Given the description of an element on the screen output the (x, y) to click on. 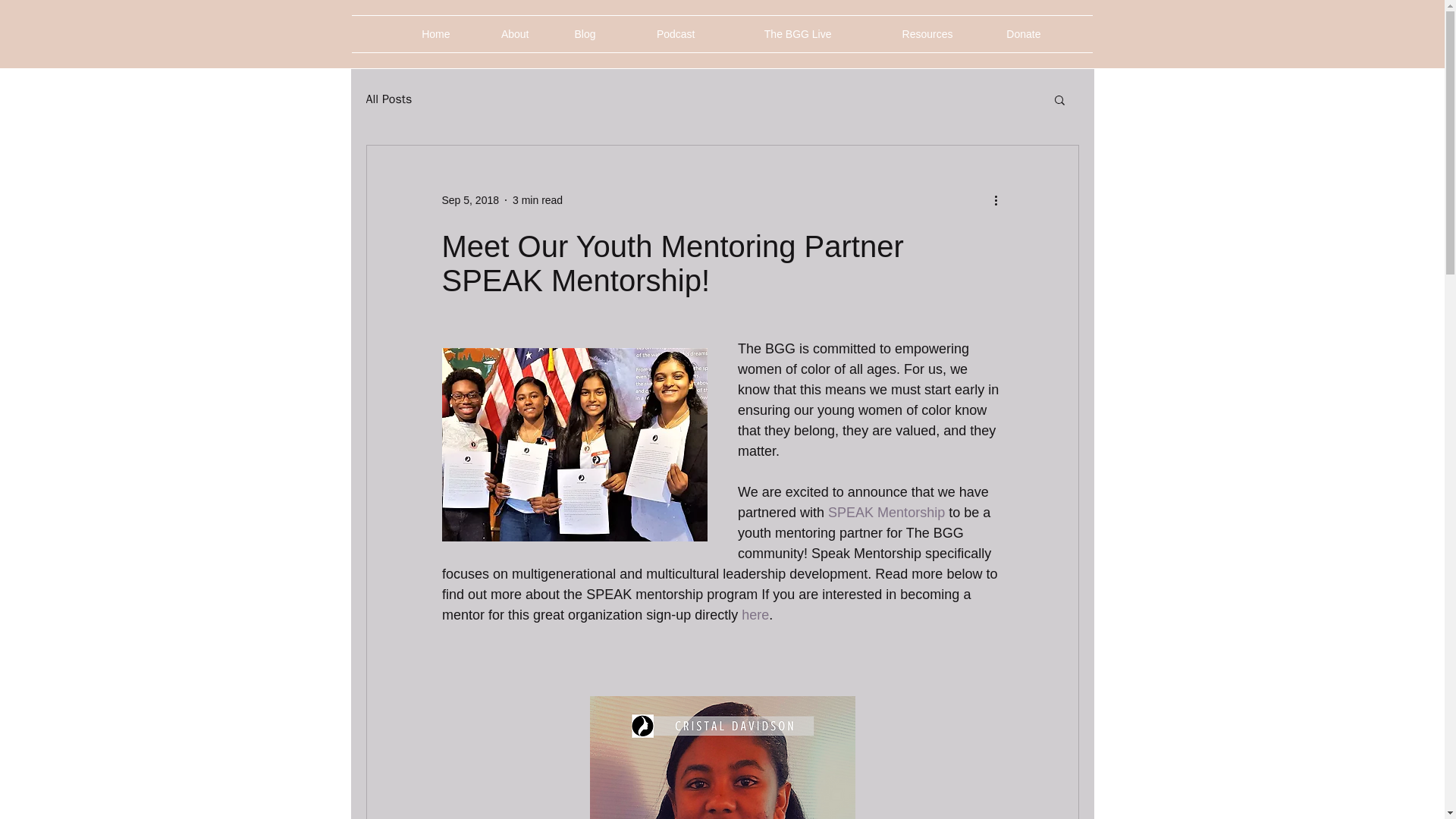
Blog (573, 33)
About (500, 33)
3 min read (537, 200)
Resources (903, 33)
The BGG Live (774, 33)
Home (427, 33)
All Posts (388, 98)
Donate (1007, 33)
here (754, 614)
Sep 5, 2018 (470, 200)
SPEAK Mentorship (886, 512)
Podcast (656, 33)
